Given the description of an element on the screen output the (x, y) to click on. 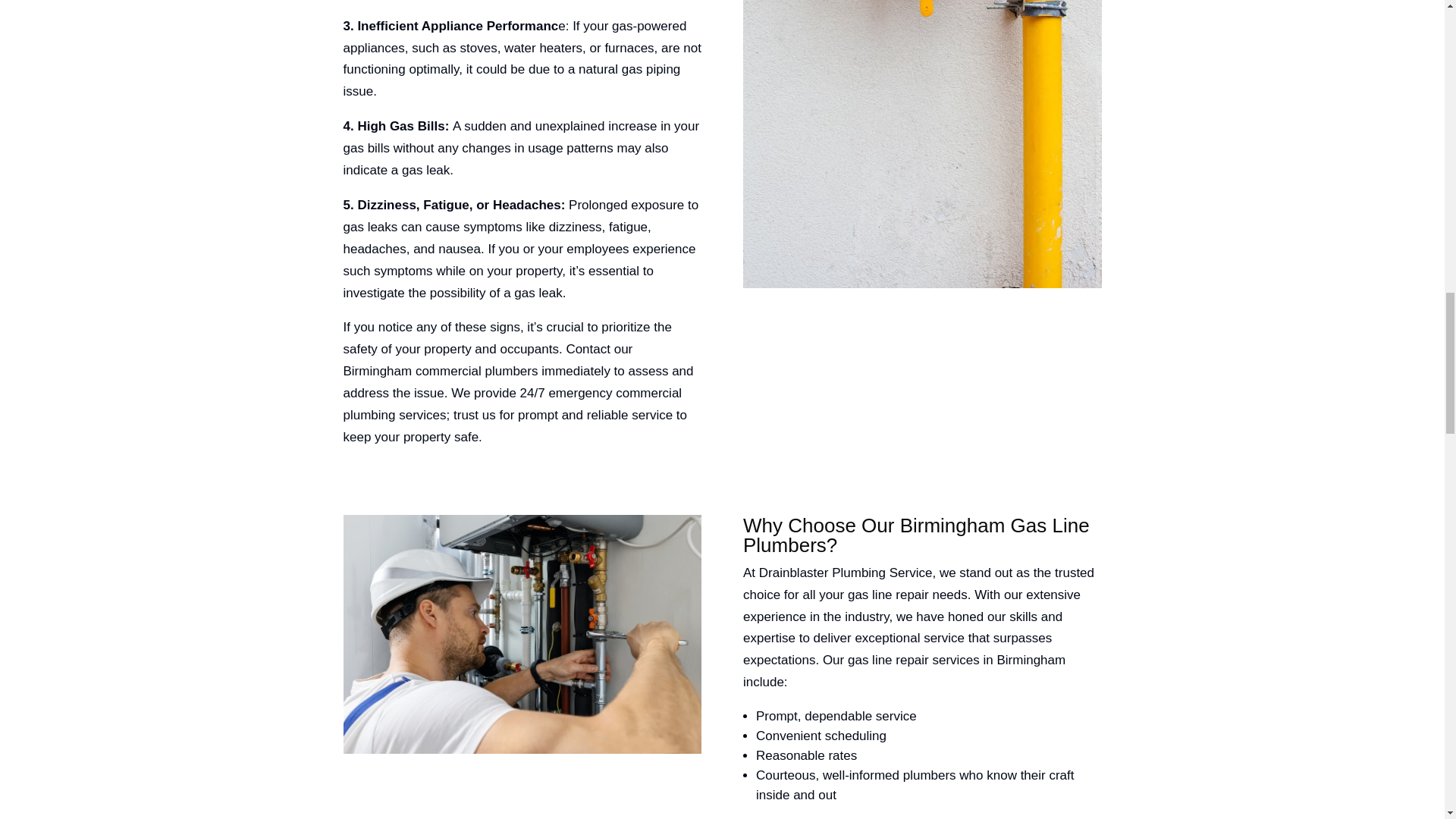
gas-line-plumbers-birmingham-al (521, 634)
emergency-gas-leak-repair-birmingham-al (922, 144)
